Given the description of an element on the screen output the (x, y) to click on. 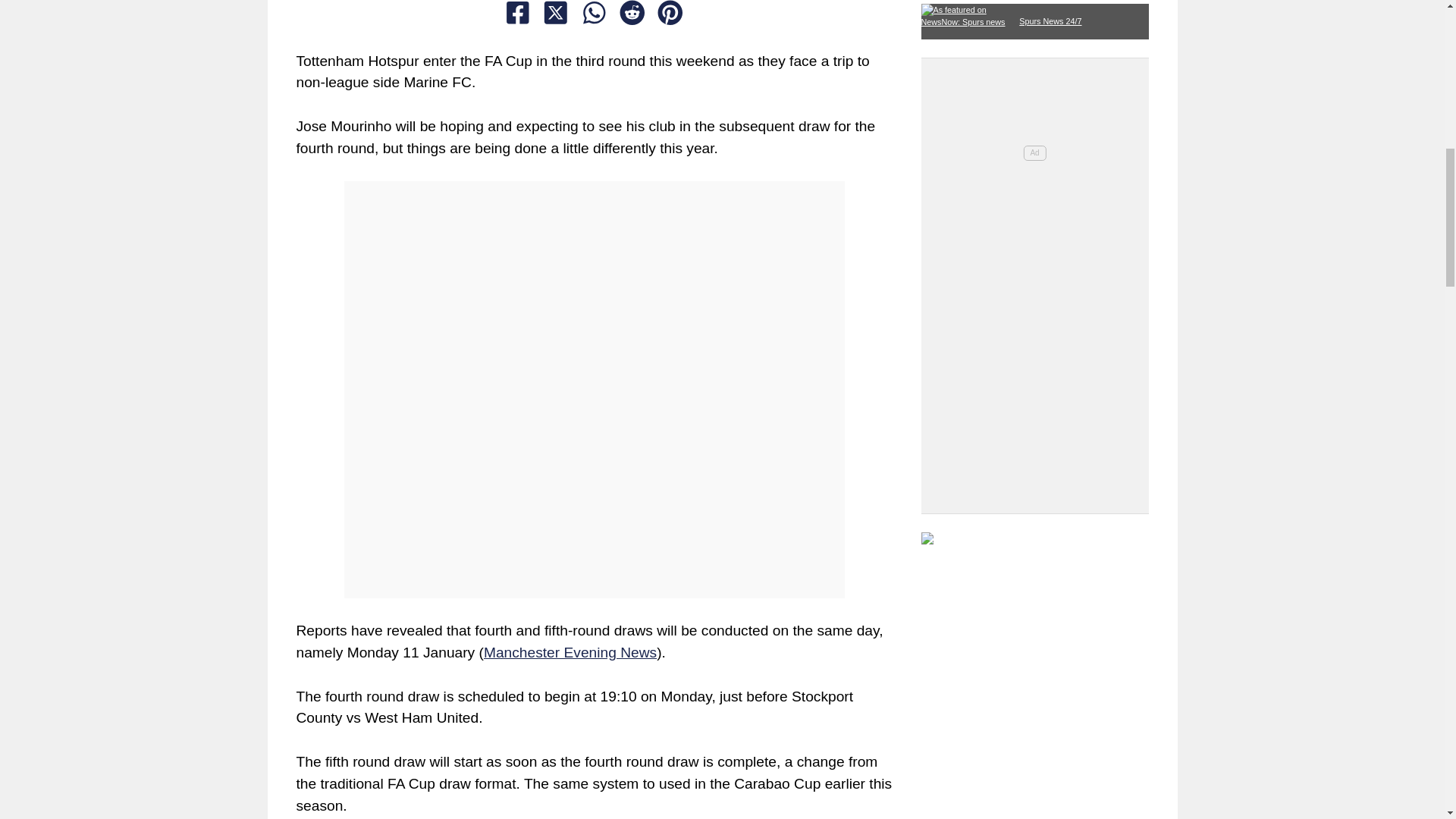
Spurs News (1034, 542)
Click here for more Spurs news from NewsNow (1034, 16)
Manchester Evening News (569, 652)
